Given the description of an element on the screen output the (x, y) to click on. 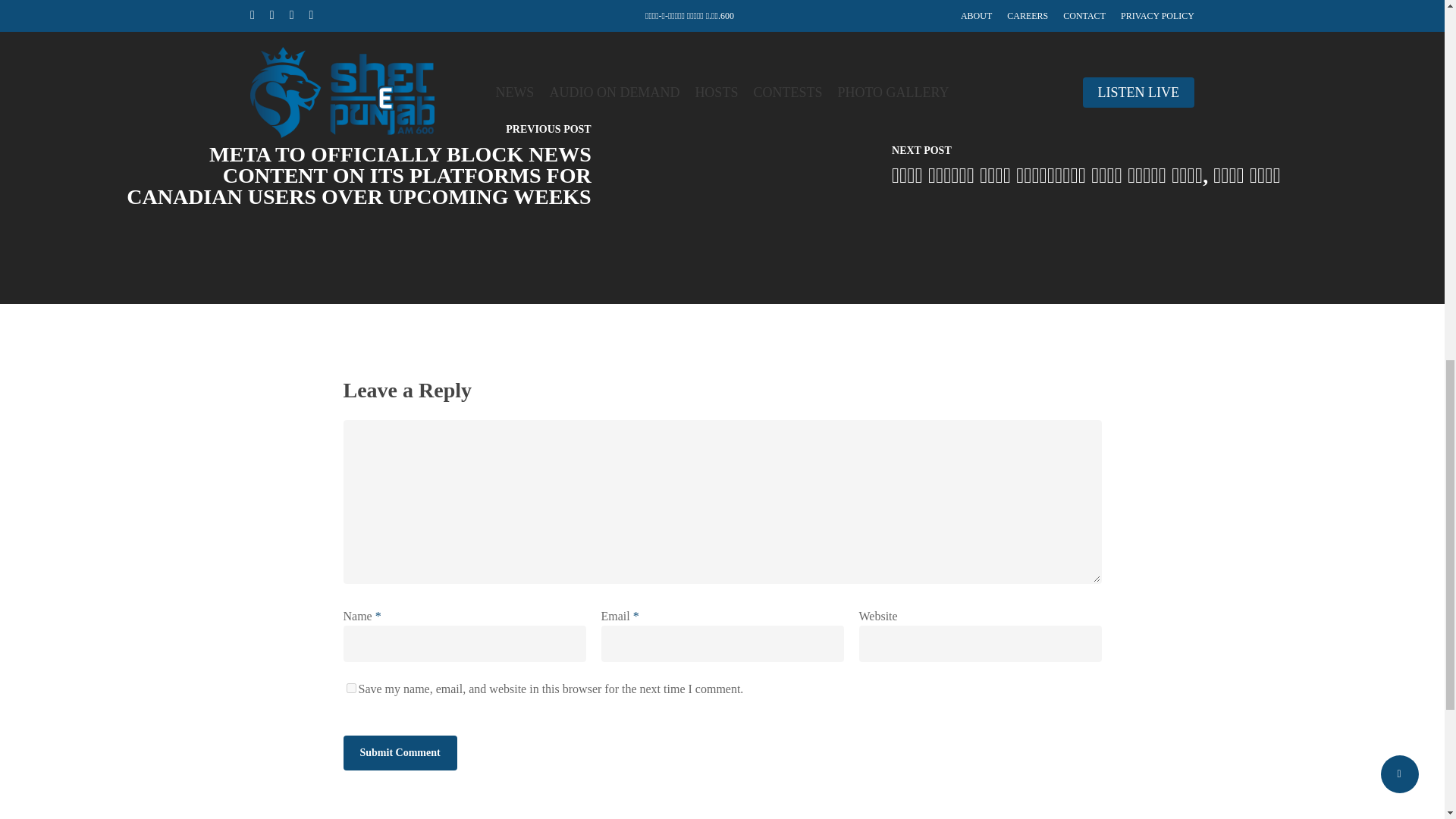
Submit Comment (399, 752)
yes (350, 687)
Submit Comment (399, 752)
